Given the description of an element on the screen output the (x, y) to click on. 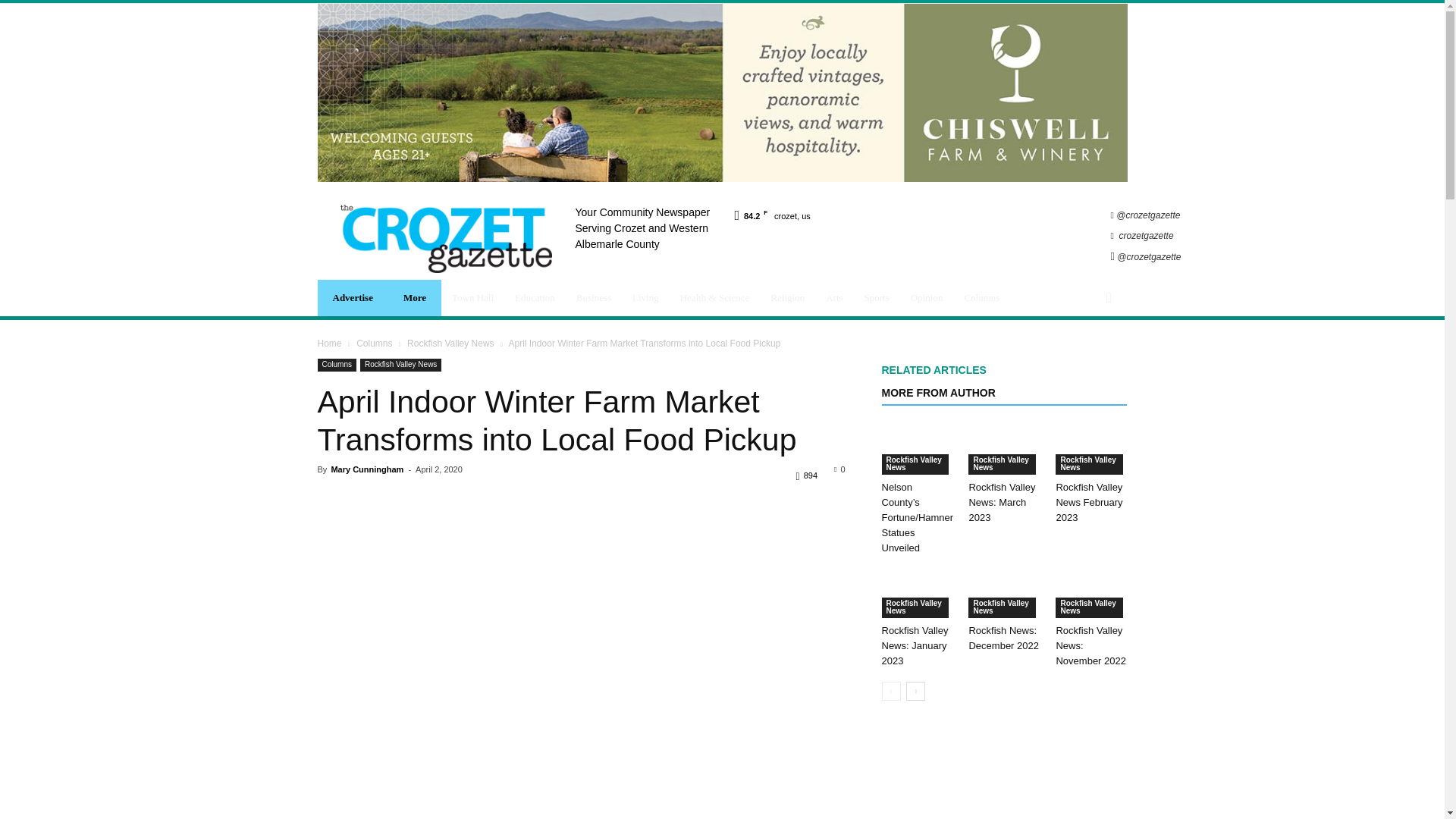
View all posts in Columns (373, 343)
View all posts in Rockfish Valley News (450, 343)
